Given the description of an element on the screen output the (x, y) to click on. 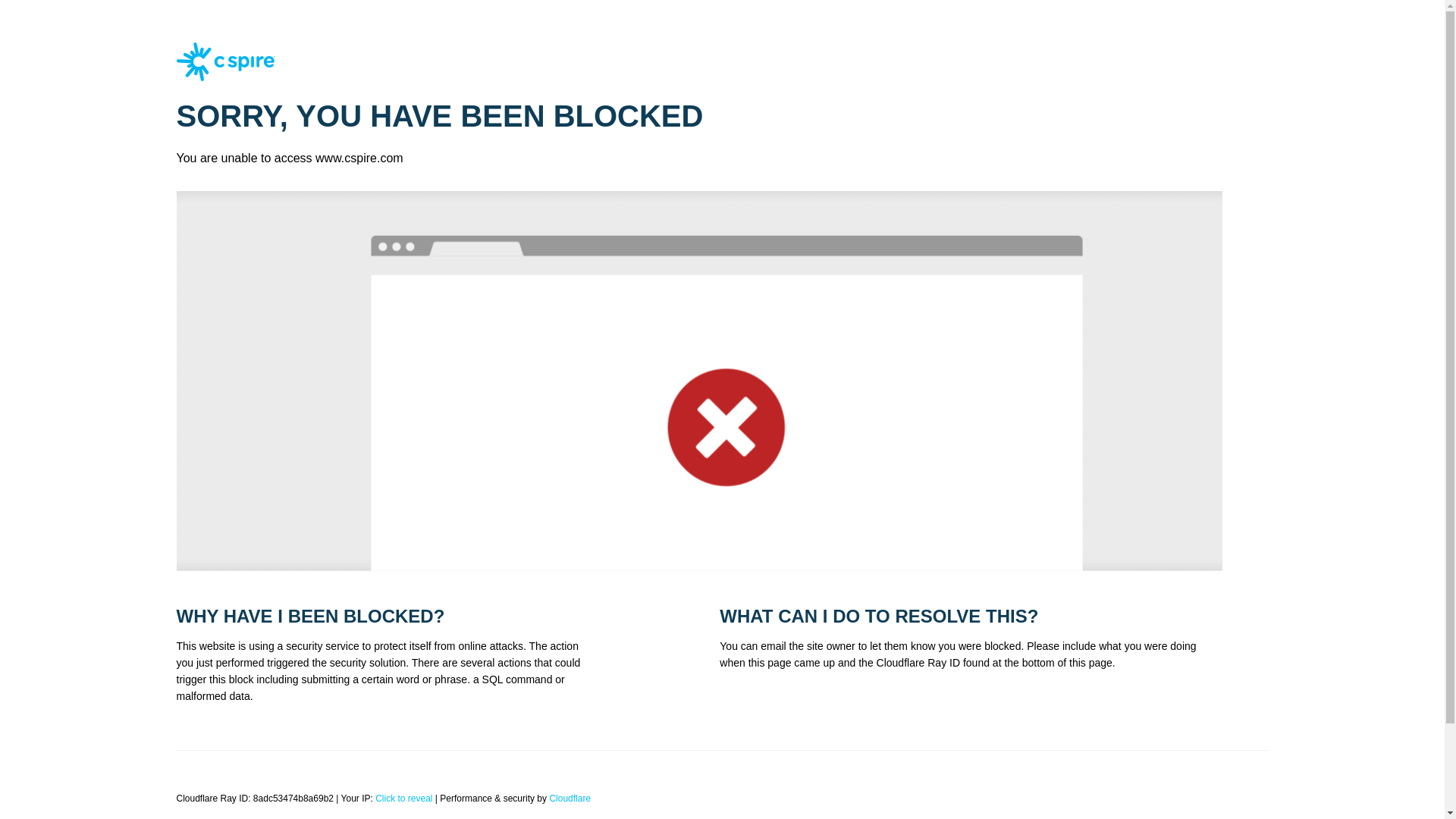
Cloudflare (569, 798)
